Given the description of an element on the screen output the (x, y) to click on. 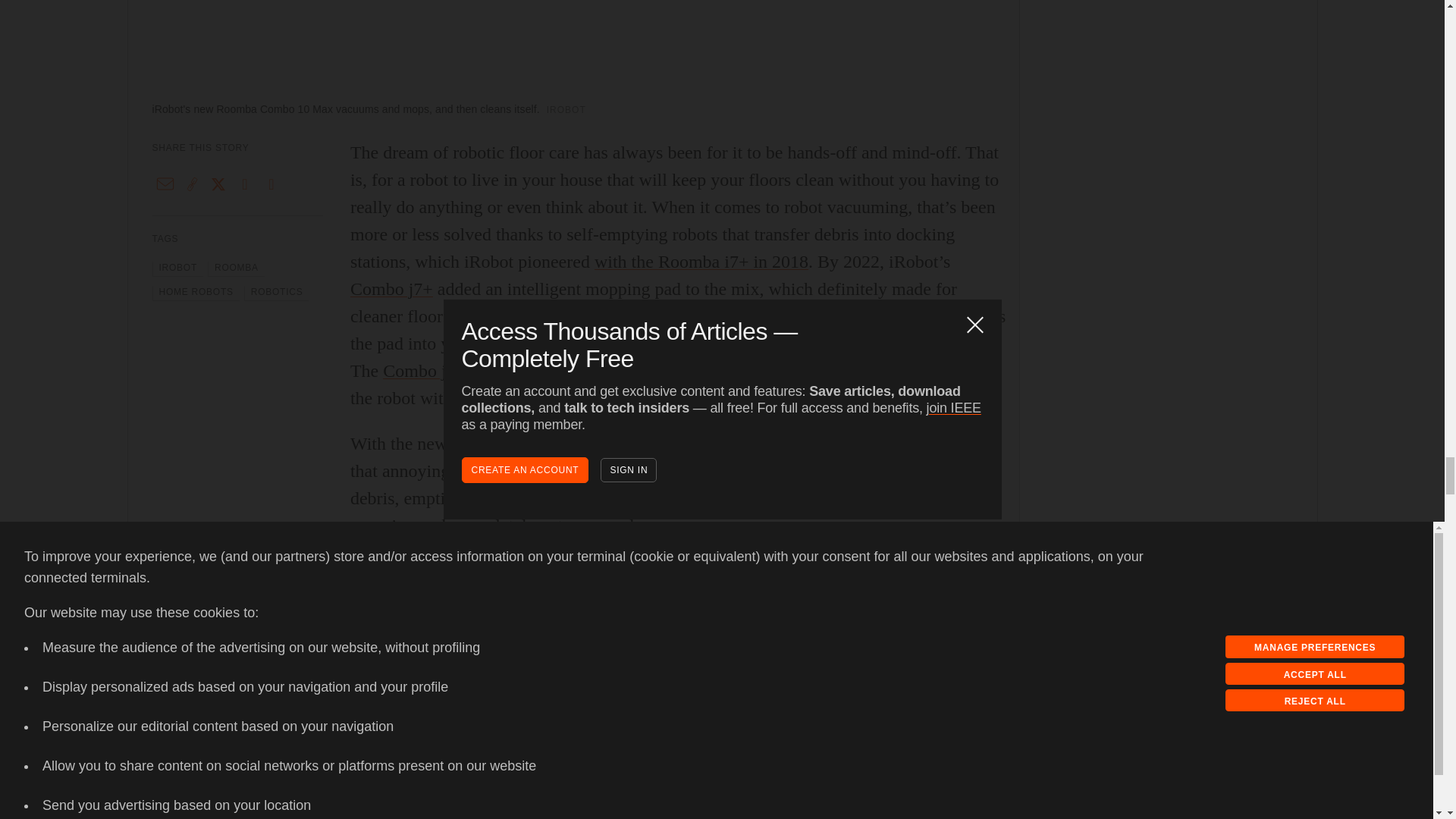
Copy this link to clipboard (192, 183)
